Given the description of an element on the screen output the (x, y) to click on. 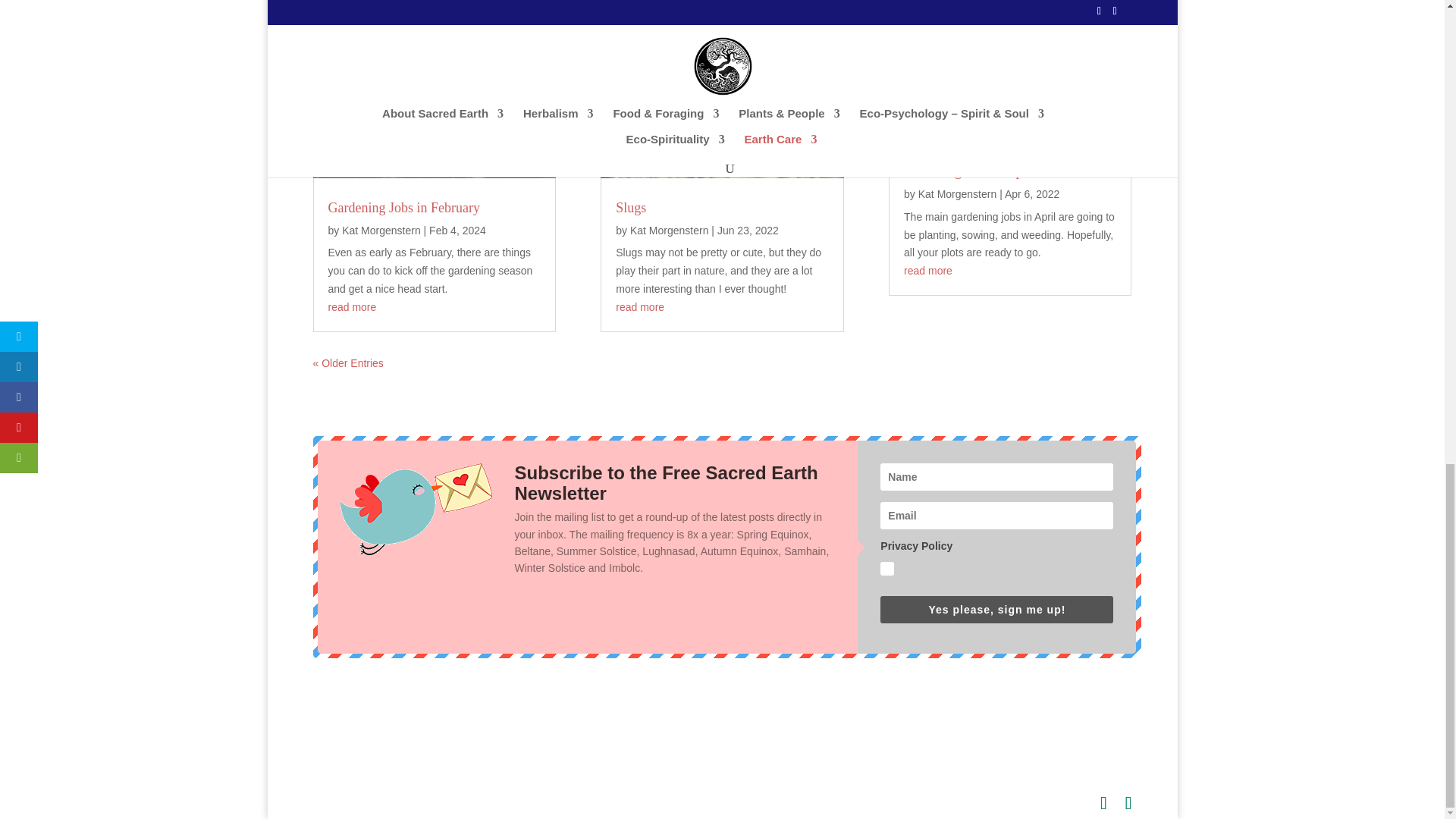
Posts by Kat Morgenstern (381, 230)
Posts by Kat Morgenstern (669, 230)
Posts by Kat Morgenstern (957, 193)
